Given the description of an element on the screen output the (x, y) to click on. 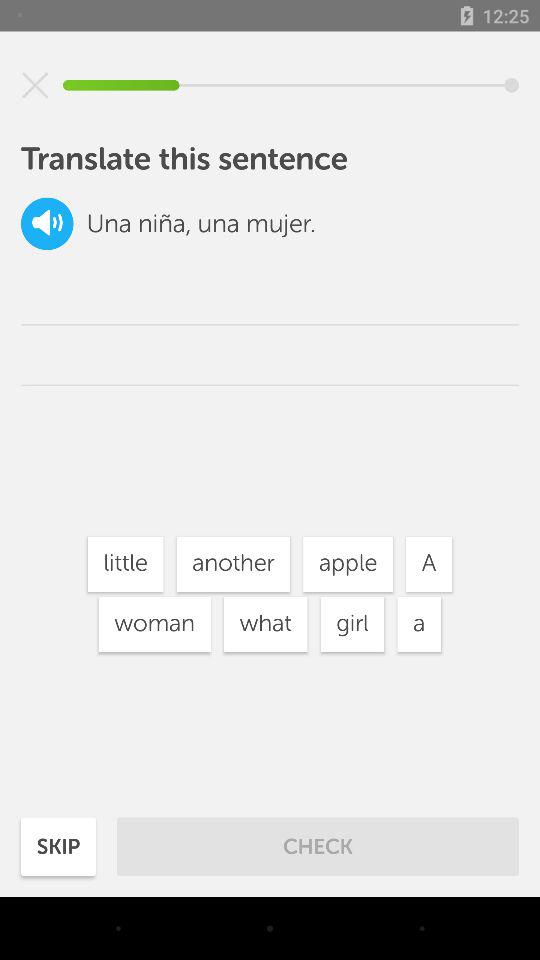
click the icon next to what item (154, 624)
